Given the description of an element on the screen output the (x, y) to click on. 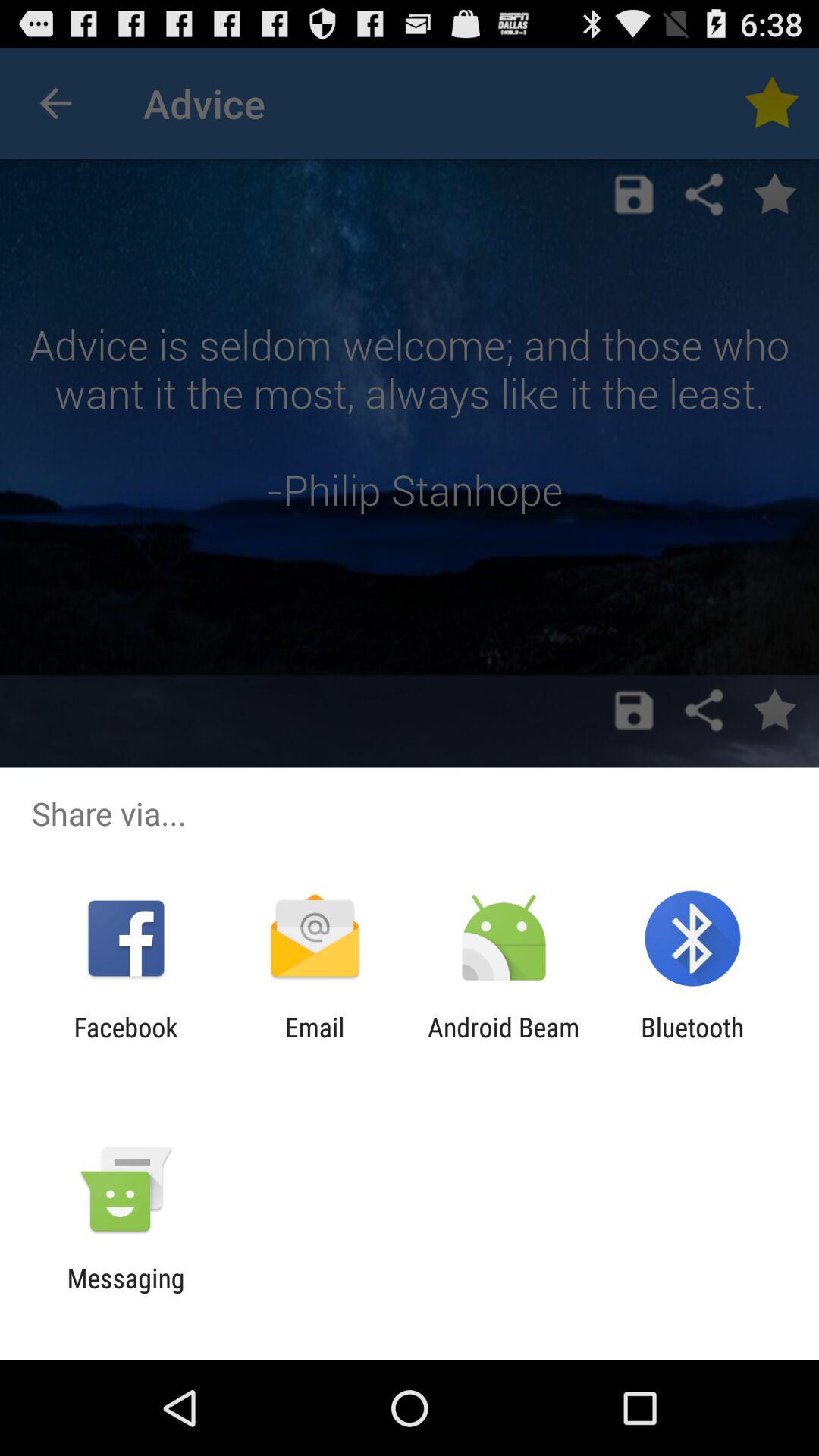
choose item next to android beam item (314, 1042)
